Given the description of an element on the screen output the (x, y) to click on. 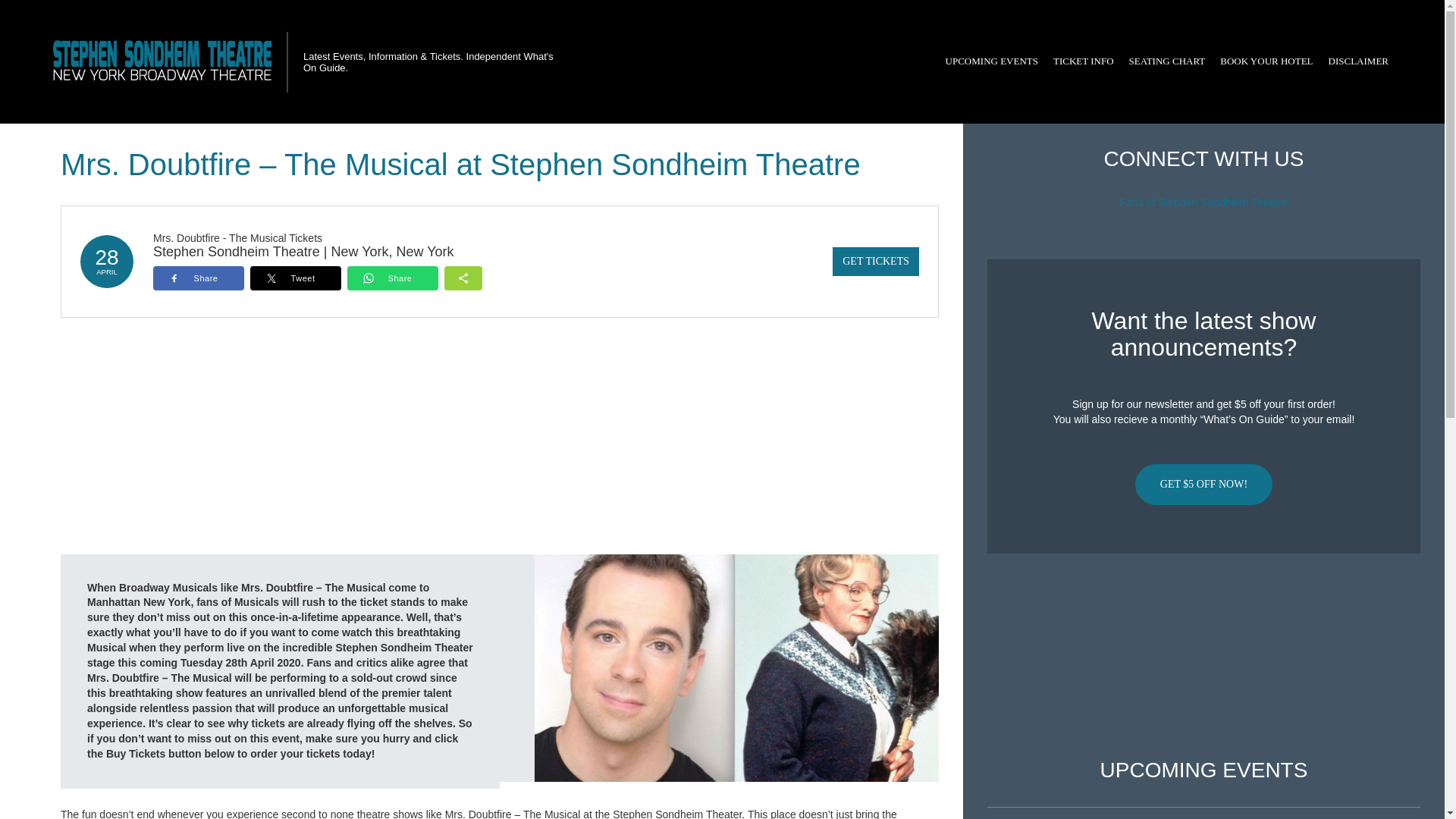
UPCOMING EVENTS (991, 61)
GET TICKETS (875, 261)
DISCLAIMER (1358, 61)
Fans of Stephen Sondheim Theatre (1203, 202)
TICKET INFO (1083, 61)
Advertisement (1204, 655)
Mrs. Doubtfire - The Musical Tickets (236, 237)
Mrs. Doubtfire - The Musical at Stephen Sondheim Theater (736, 667)
BOOK YOUR HOTEL (1266, 61)
SEATING CHART (1166, 61)
